Given the description of an element on the screen output the (x, y) to click on. 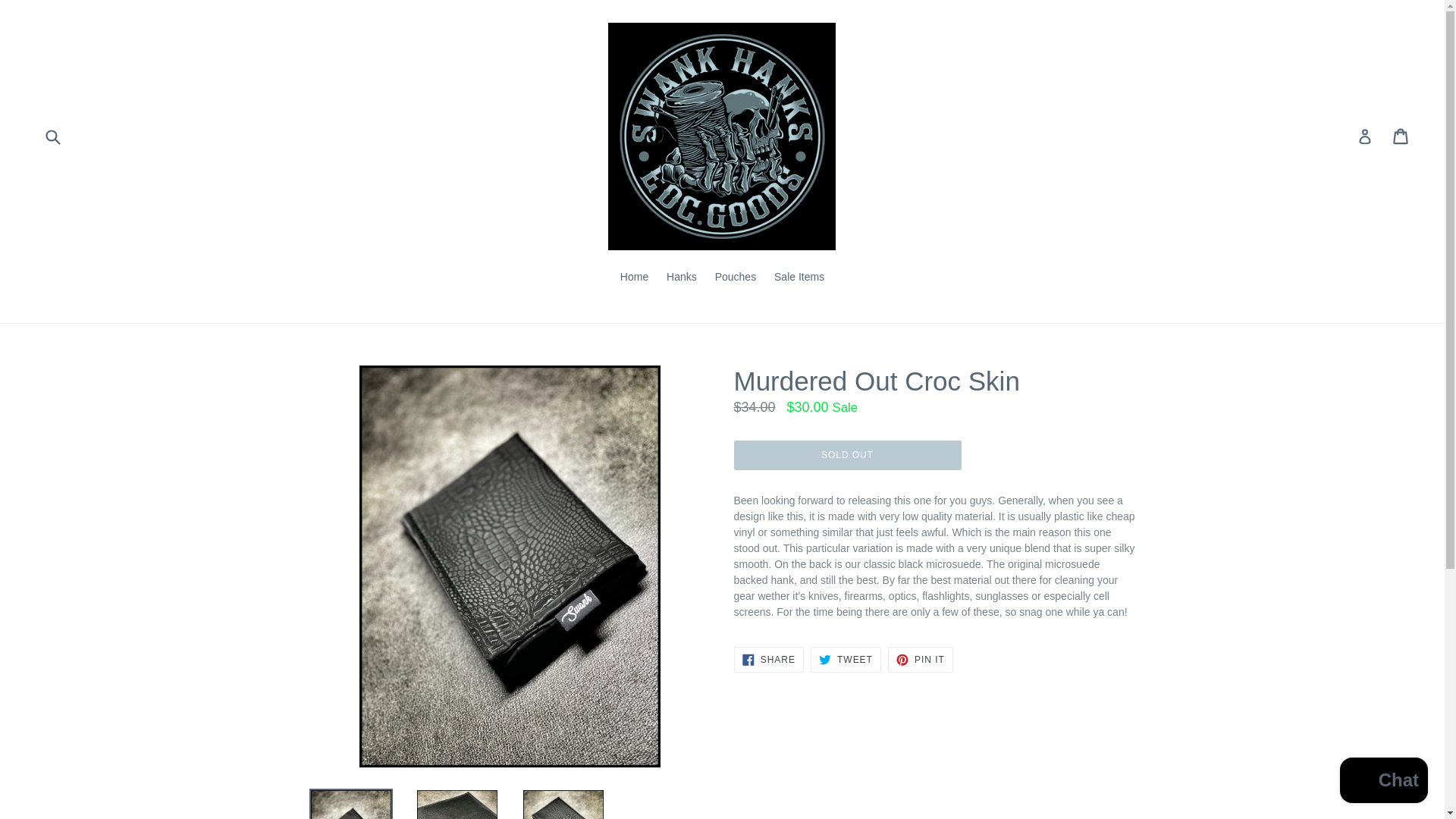
Pin on Pinterest (920, 659)
Home (634, 278)
Tweet on Twitter (845, 659)
SOLD OUT (846, 455)
Hanks (681, 278)
Pouches (734, 278)
Shopify online store chat (1383, 781)
Share on Facebook (768, 659)
